Given the description of an element on the screen output the (x, y) to click on. 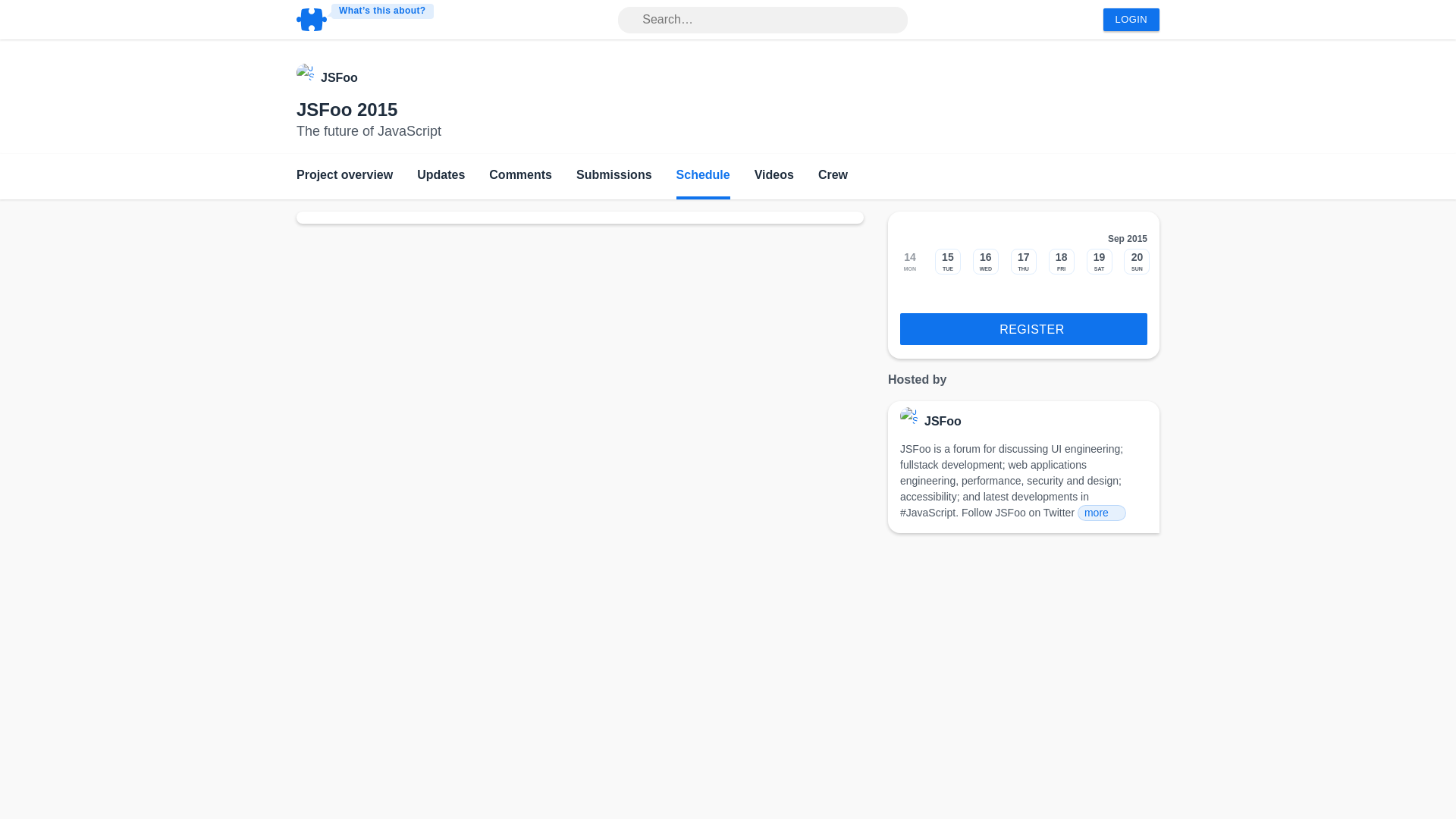
REGISTER (1023, 328)
Schedule (703, 176)
Project overview (345, 176)
more (1101, 512)
LOGIN (1130, 19)
JSFoo 2015 (347, 109)
Submissions (614, 176)
Comments (520, 176)
Updates (440, 176)
JSFoo (339, 76)
